Given the description of an element on the screen output the (x, y) to click on. 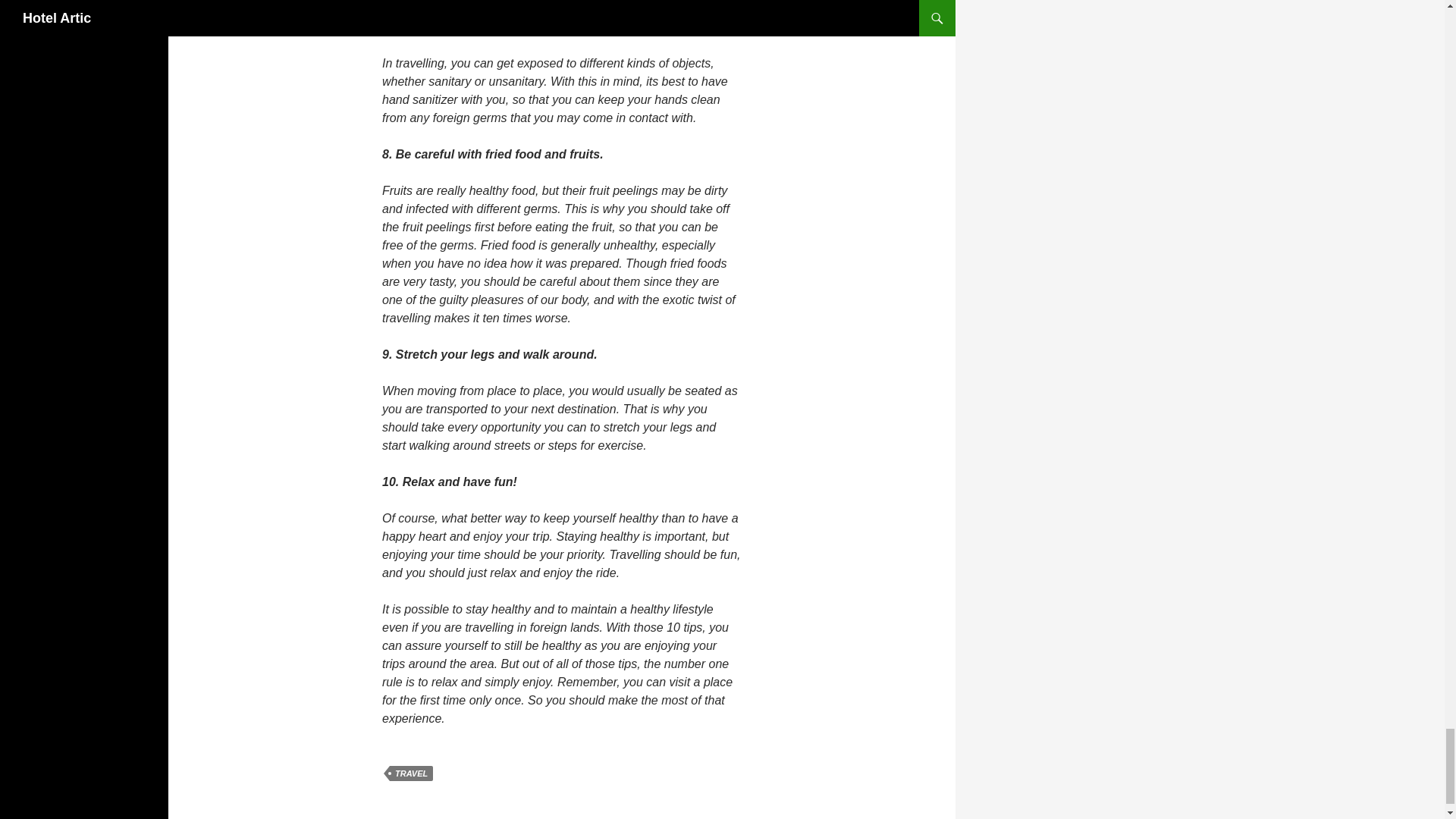
TRAVEL (411, 773)
